Given the description of an element on the screen output the (x, y) to click on. 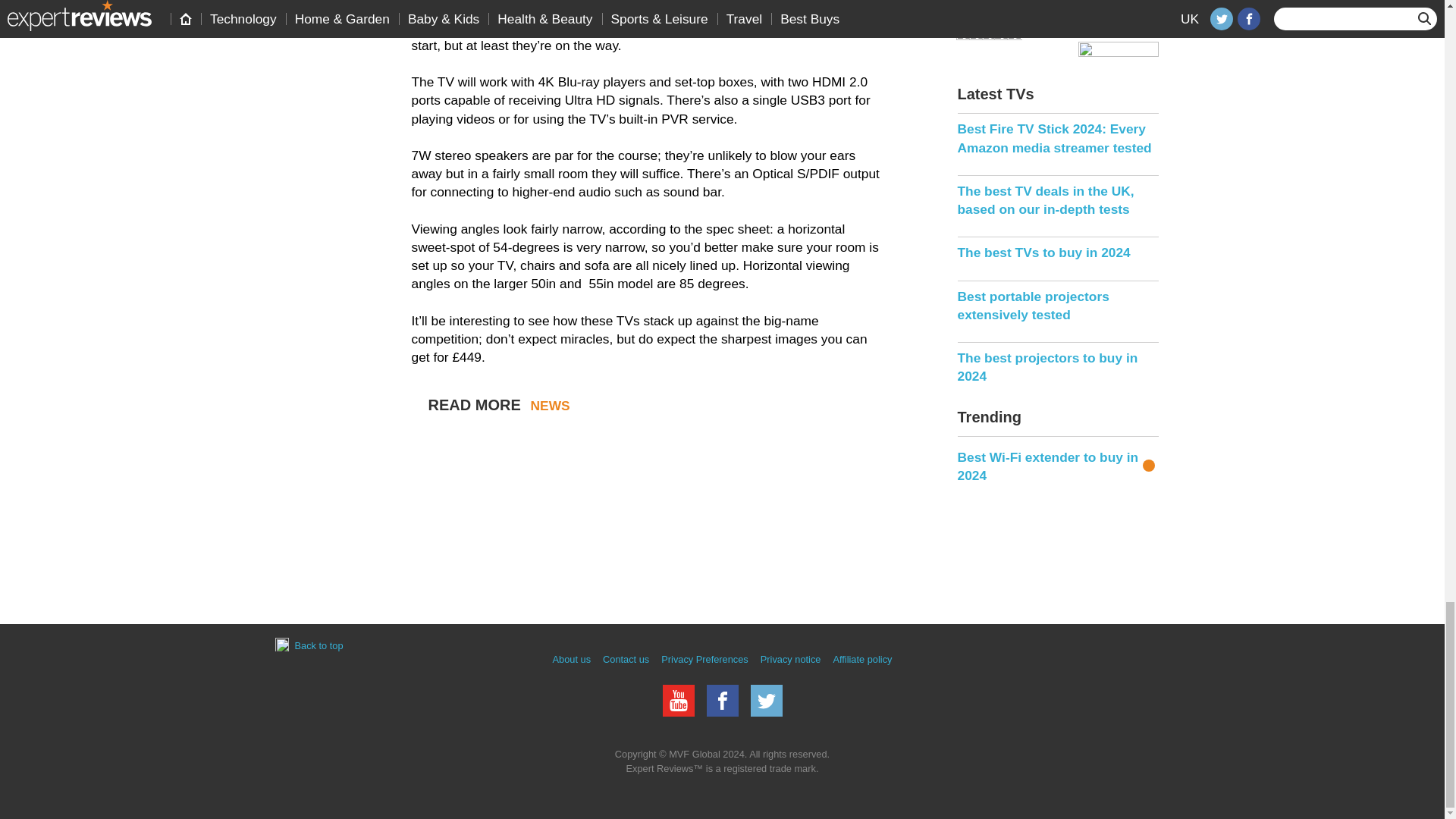
NEWS (550, 405)
